Given the description of an element on the screen output the (x, y) to click on. 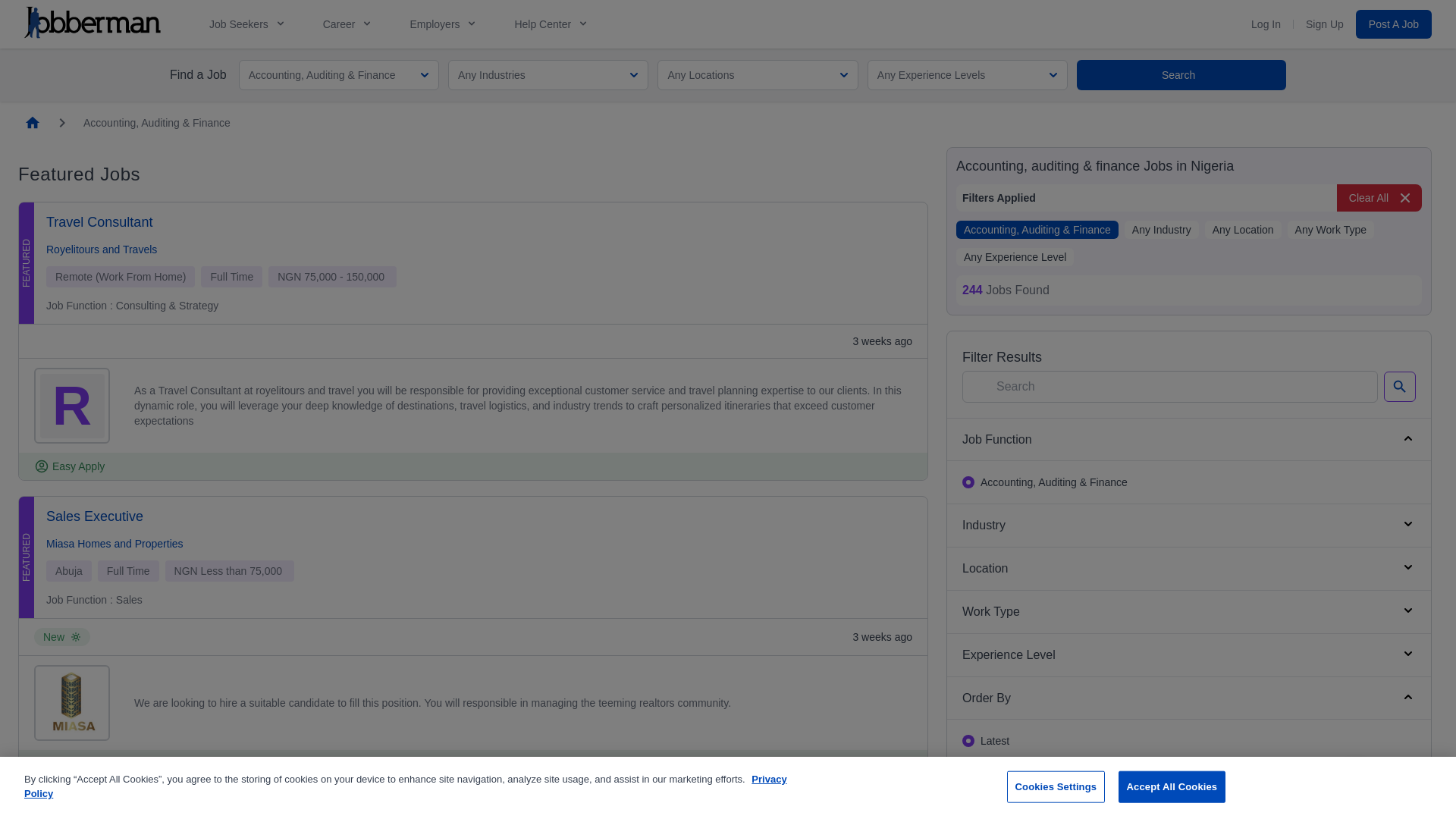
Job Seekers (239, 24)
Help Center (551, 23)
Chinese Translator (103, 811)
latest (968, 740)
Career (348, 23)
Employers (436, 24)
Log In (1265, 23)
Employers (443, 23)
Travel Consultant (99, 221)
Help Center (543, 24)
accounting-auditing-finance (968, 481)
Sign Up (1324, 23)
featured (968, 784)
Job Seekers (247, 23)
Post A Job (1393, 23)
